Given the description of an element on the screen output the (x, y) to click on. 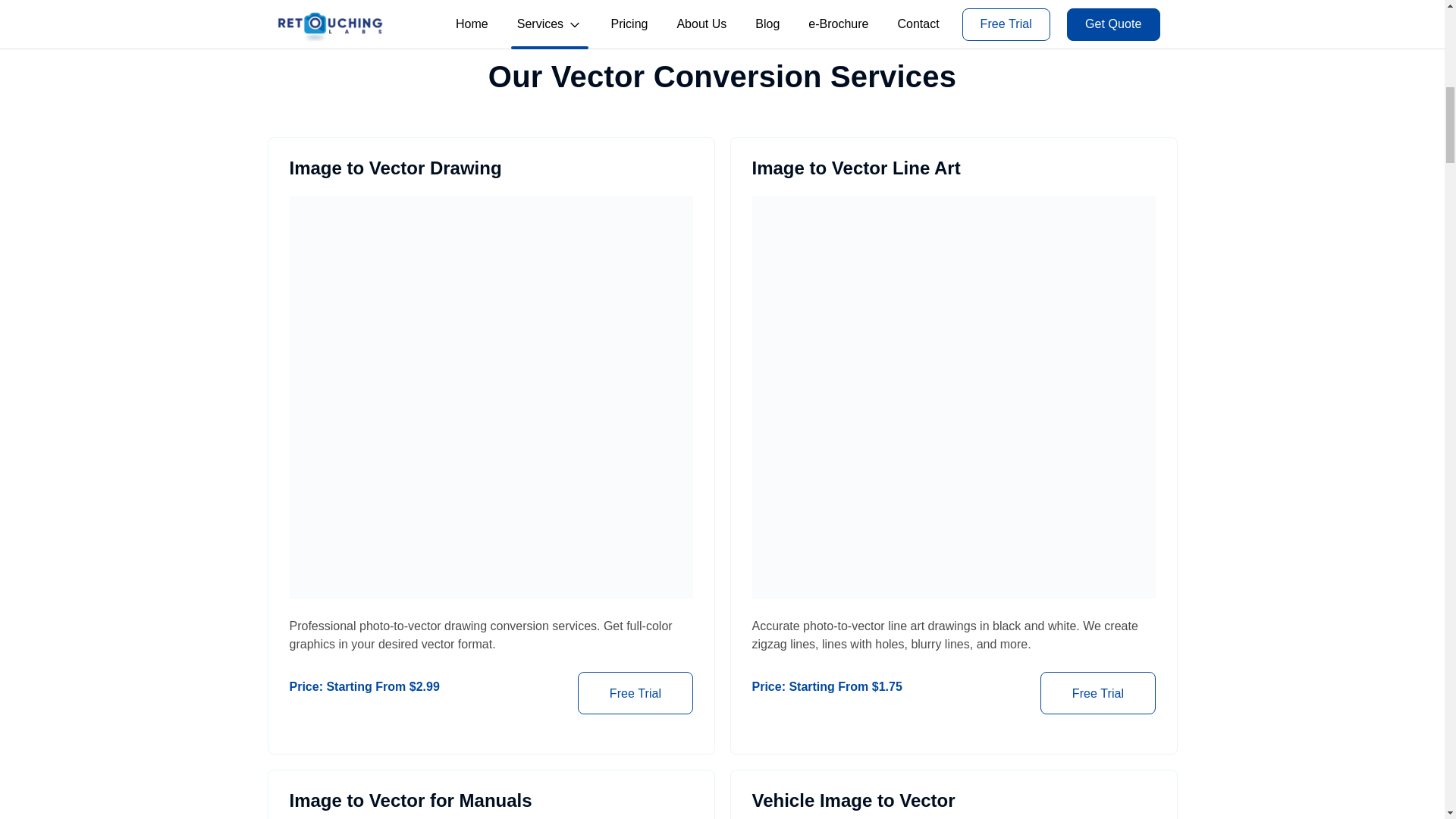
Free Trial (635, 735)
